Given the description of an element on the screen output the (x, y) to click on. 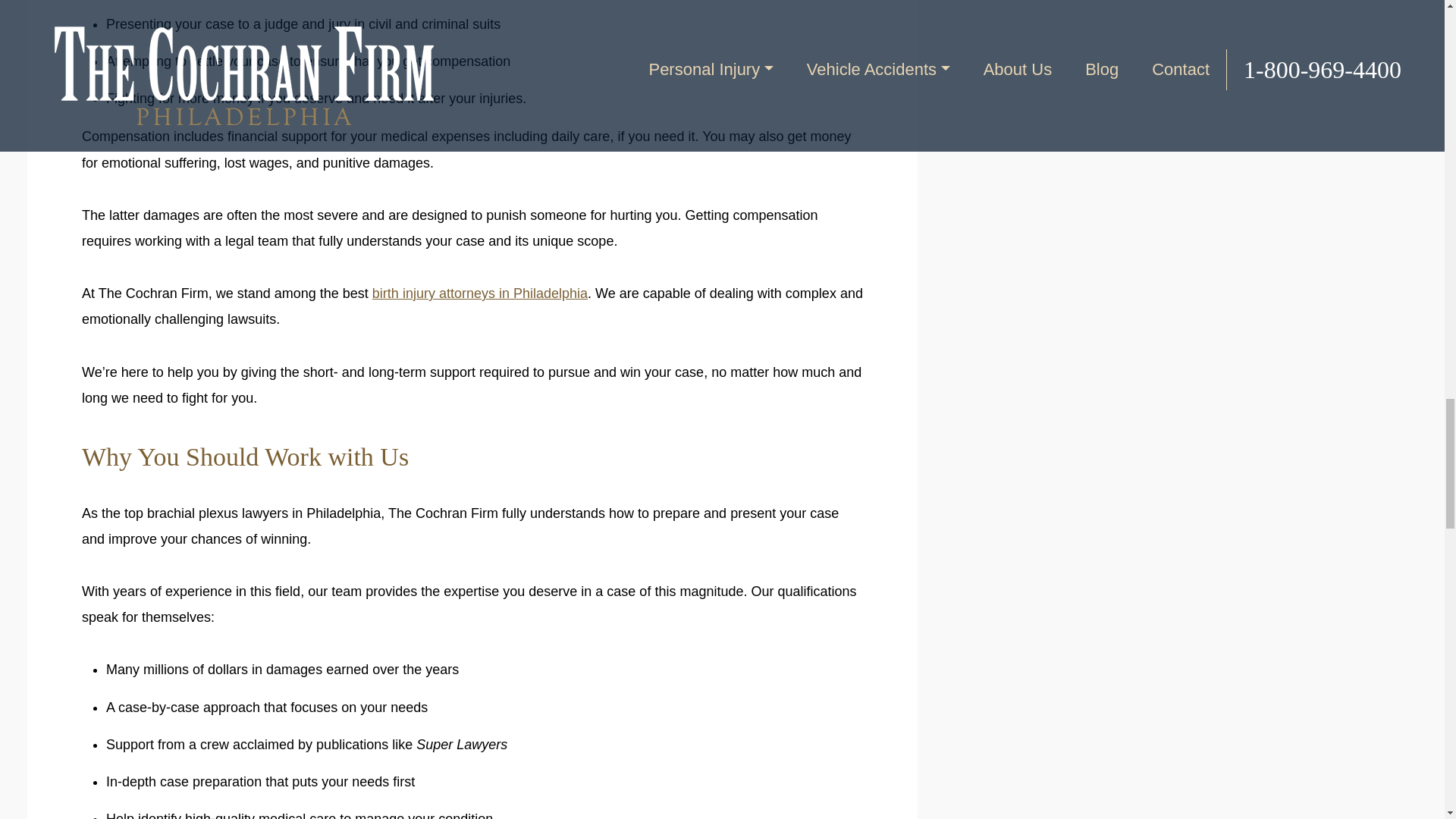
birth injury attorneys in Philadelphia (480, 293)
